Given the description of an element on the screen output the (x, y) to click on. 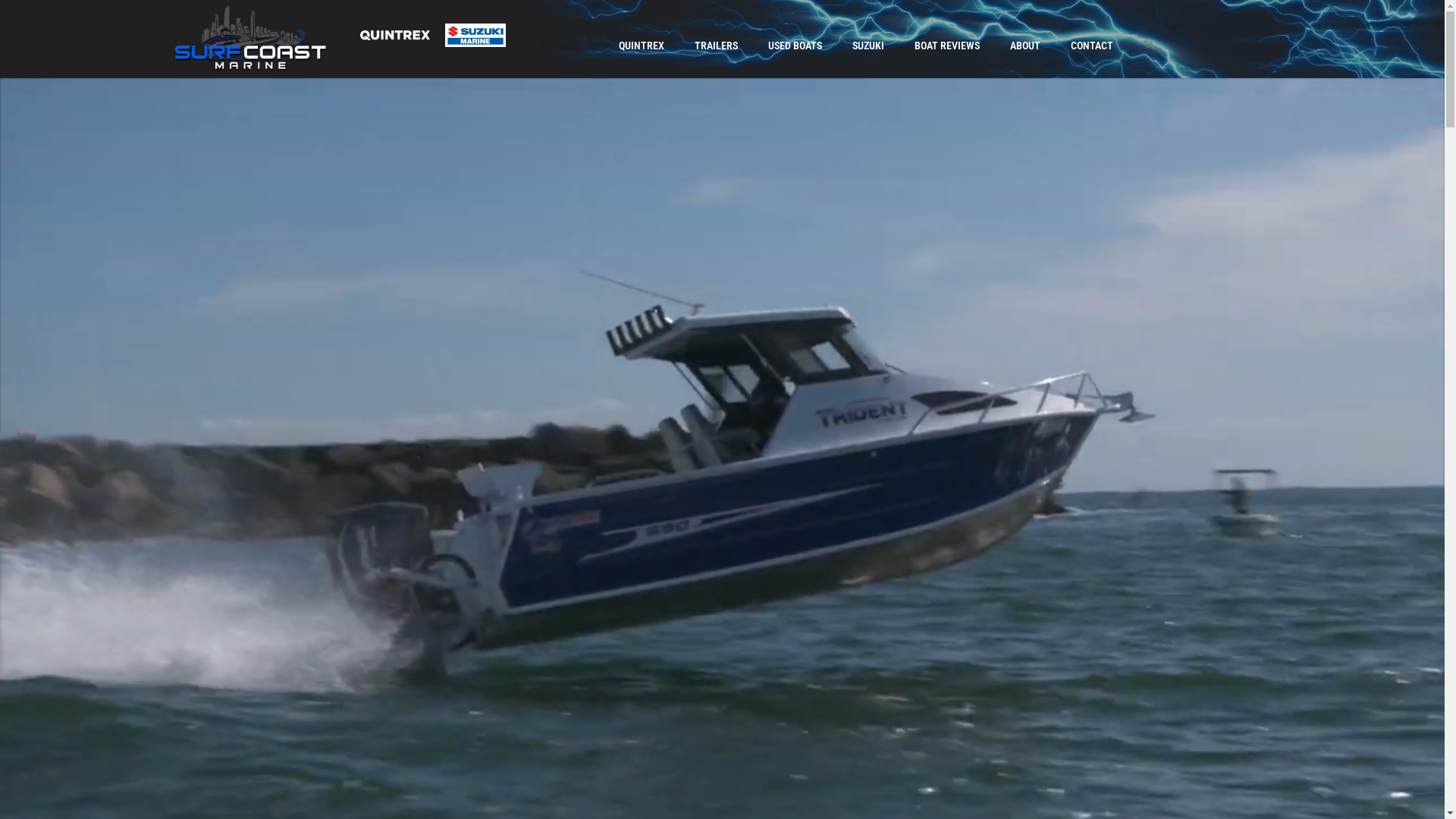
USED BOATS Element type: text (795, 45)
Search Element type: hover (1158, 43)
QUINTREX Element type: text (641, 45)
SUZUKI Element type: text (868, 45)
ABOUT Element type: text (1024, 45)
BOAT REVIEWS Element type: text (946, 45)
surfcoastmarine-logo_transparency Element type: hover (250, 35)
CONTACT Element type: text (1091, 45)
TRAILERS Element type: text (716, 45)
